Given the description of an element on the screen output the (x, y) to click on. 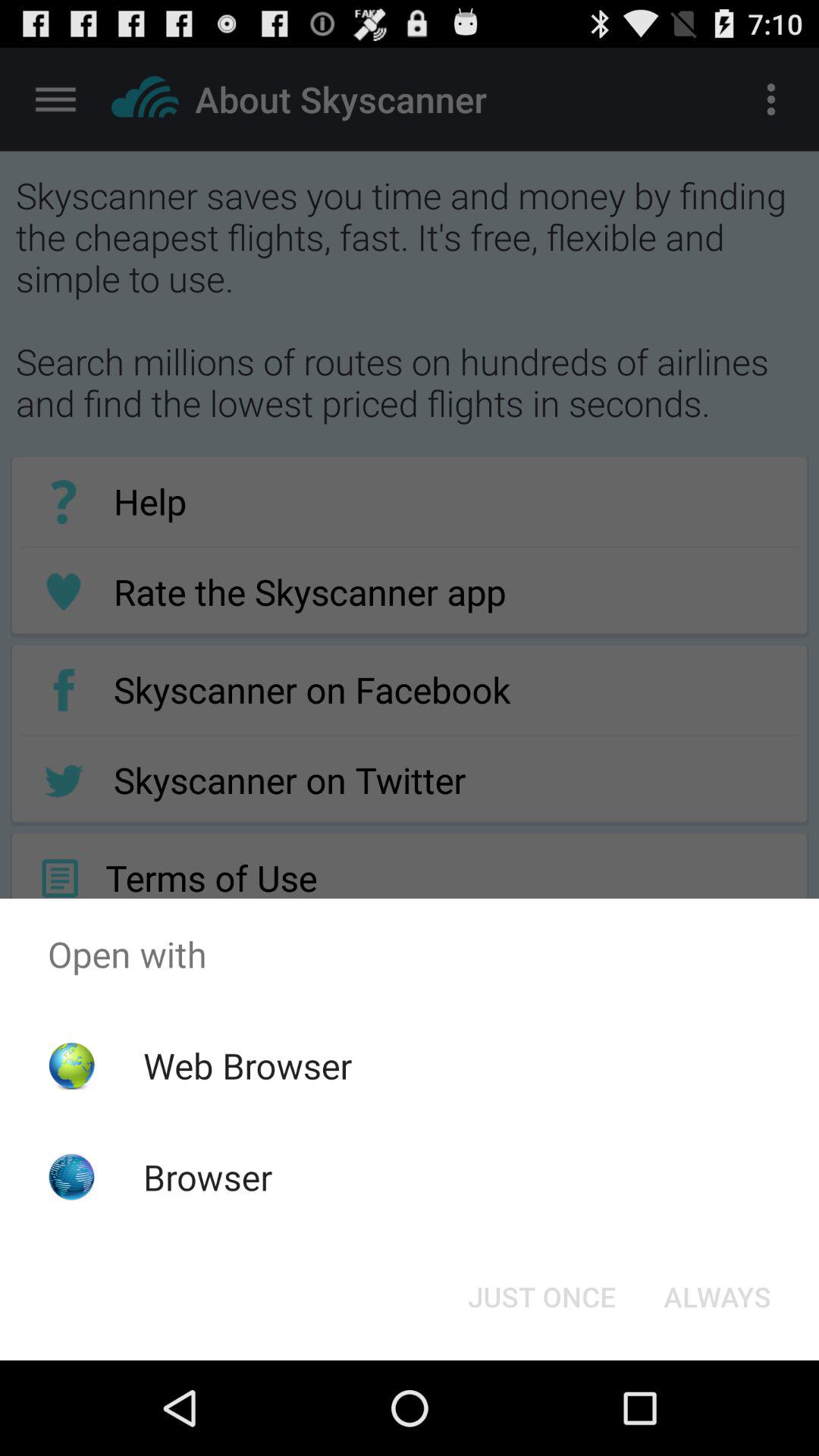
click the web browser (247, 1065)
